Given the description of an element on the screen output the (x, y) to click on. 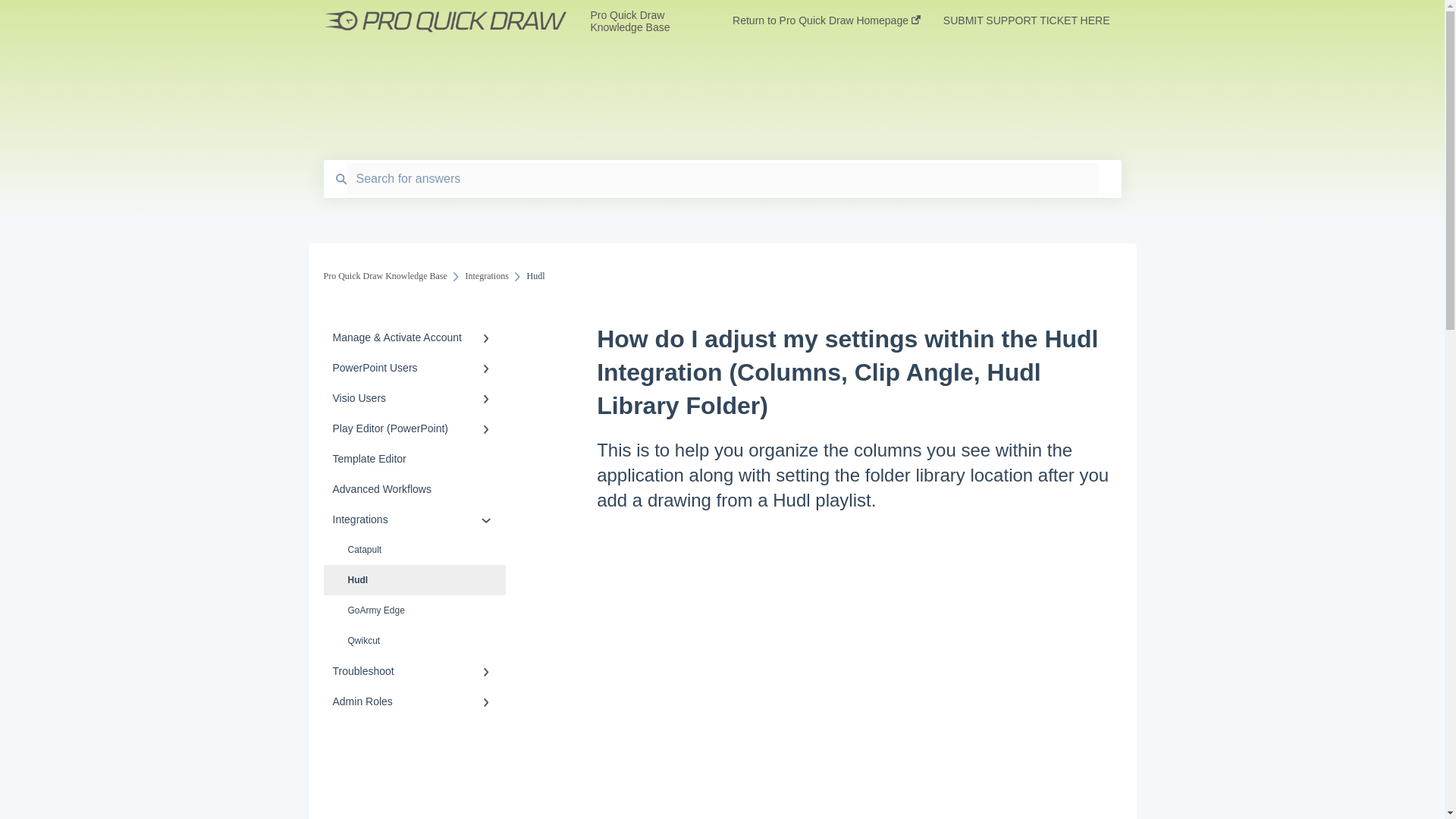
Pro Quick Draw Knowledge Base (638, 21)
SUBMIT SUPPORT TICKET HERE (1026, 25)
Return to Pro Quick Draw Homepage (826, 25)
